Given the description of an element on the screen output the (x, y) to click on. 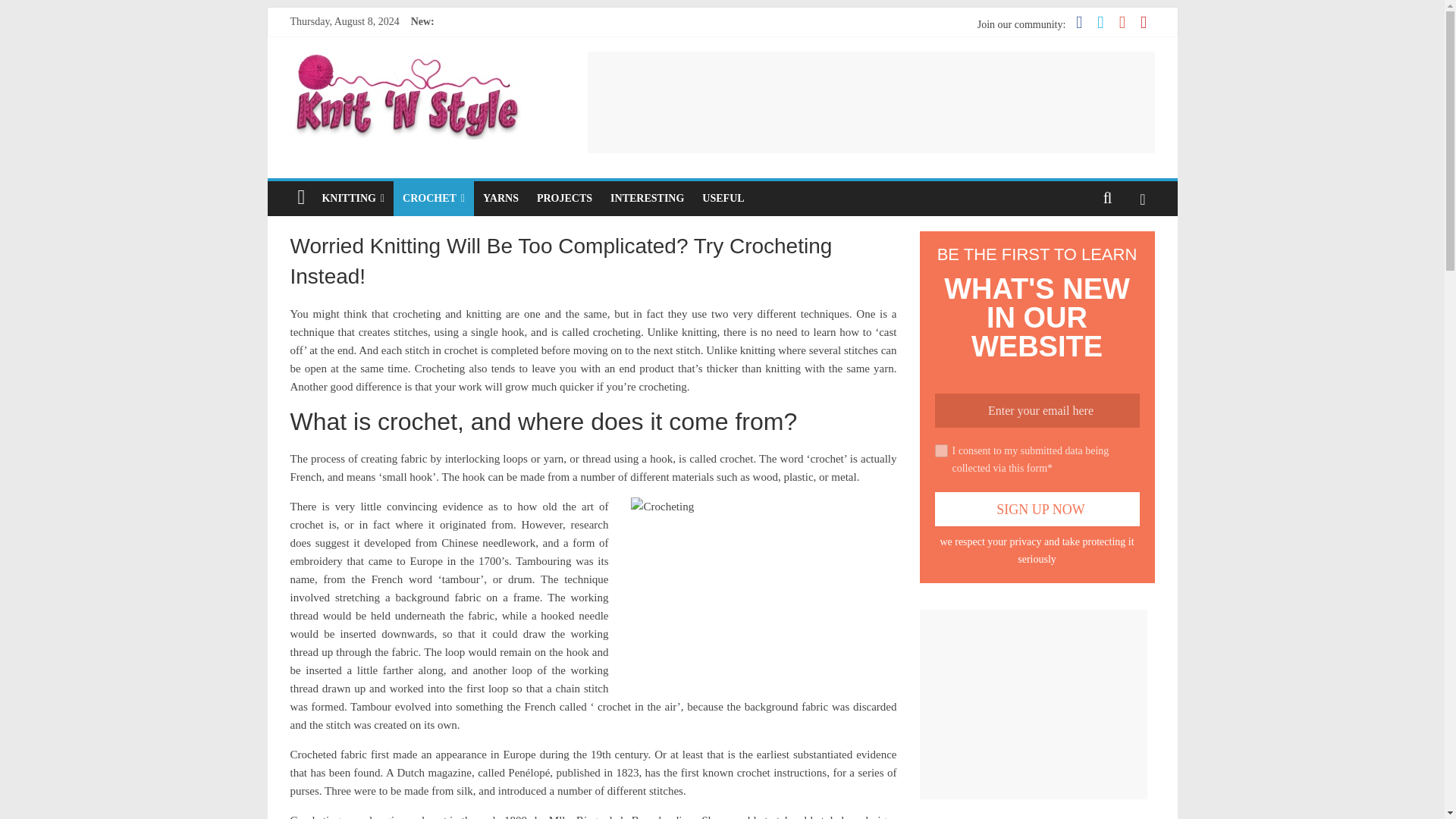
KNITTING (353, 198)
INTERESTING (647, 198)
CROCHET (433, 198)
PROJECTS (564, 198)
Enter your email here (1036, 410)
on (940, 450)
Knit and Style (406, 60)
YARNS (500, 198)
Sign Up Now (1036, 509)
Sign Up Now (1036, 509)
USEFUL (722, 198)
